Given the description of an element on the screen output the (x, y) to click on. 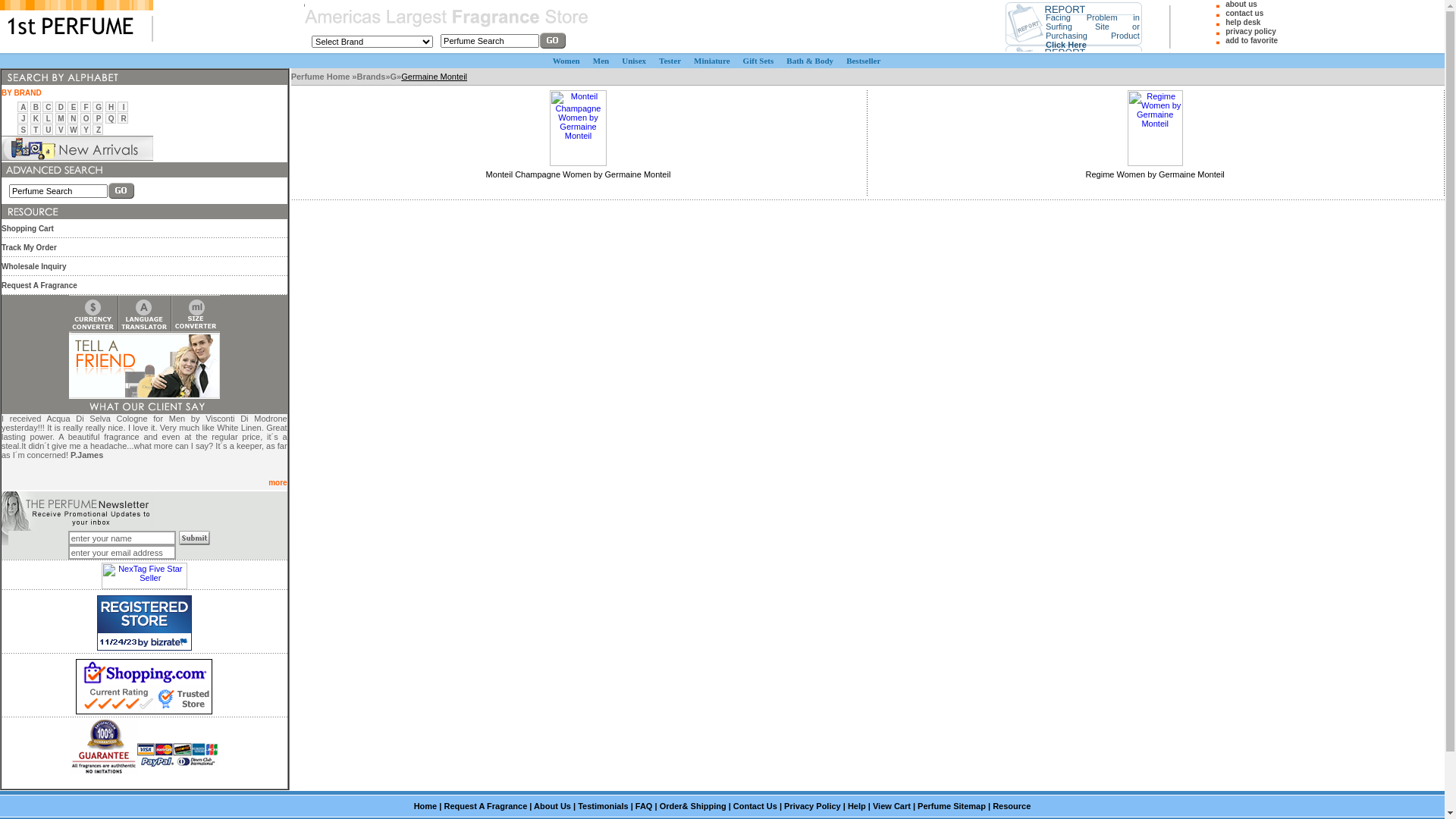
W Element type: text (72, 129)
contact us Element type: text (1244, 13)
View Cart Element type: text (891, 805)
U Element type: text (47, 129)
Sign Up for Perfume News Letter Element type: hover (76, 510)
K Element type: text (35, 117)
Help Element type: text (856, 805)
cheap perfume Element type: hover (304, 34)
Resource Element type: text (1011, 805)
Y Element type: text (85, 129)
Track My Order Element type: text (28, 246)
Tester Element type: text (669, 60)
S Element type: text (22, 129)
Q Element type: text (111, 117)
perfume fragrance Element type: hover (1, 490)
Wholesale Inquiry Element type: text (33, 266)
E Element type: text (73, 107)
discount perfume Element type: hover (304, 3)
Perfume Sitemap Element type: text (951, 805)
perfume bottle Element type: hover (290, 68)
1stPerfume Element type: hover (76, 20)
Monteil Champagne Women by Germaine Monteil Element type: text (578, 173)
Request A Fragrance Element type: text (485, 805)
P Element type: text (98, 117)
Request A Fragrance Element type: text (39, 284)
Miniature Element type: text (711, 60)
FAQ Element type: text (643, 805)
Privacy Policy Element type: text (812, 805)
New Arrival Perfumes Element type: hover (77, 147)
R Element type: text (123, 117)
Gift Sets Element type: text (758, 60)
Search here for Fragrance Element type: hover (53, 170)
O Element type: text (86, 117)
perfume scents Element type: hover (177, 530)
about us Element type: text (1241, 4)
Men Element type: text (600, 60)
G Element type: text (98, 107)
Contact Us Element type: text (755, 805)
Shopping Cart Element type: text (27, 228)
Bath & Body Element type: text (809, 60)
add to favorite Element type: text (1251, 40)
Click Here Element type: text (1065, 43)
Home Element type: text (425, 805)
Testimonials Element type: text (602, 805)
C Element type: text (47, 107)
Z Element type: text (98, 129)
Brands Element type: text (370, 76)
Search Brand Perfume Alphabetically Element type: hover (59, 76)
J Element type: text (23, 117)
V Element type: text (60, 129)
privacy policy Element type: text (1250, 31)
D Element type: text (60, 107)
Women Element type: text (566, 60)
N Element type: text (72, 117)
Perfume Home Element type: text (321, 76)
B Element type: text (35, 107)
About Us Element type: text (552, 805)
G Element type: text (393, 76)
1st Perfume Testimonals Element type: hover (144, 406)
Bestseller Element type: text (862, 60)
Americas Largest Perfume Store Element type: hover (446, 17)
H Element type: text (110, 107)
1st Perfume Resource Element type: hover (29, 211)
Tell A Friend about 1st Perfume Element type: hover (144, 365)
help desk Element type: text (1242, 22)
L Element type: text (48, 117)
M Element type: text (60, 117)
spa scents Element type: hover (291, 84)
Order& Shipping Element type: text (692, 805)
more Element type: text (277, 482)
Unisex Element type: text (633, 60)
F Element type: text (86, 107)
I Element type: text (123, 107)
Regime Women by Germaine Monteil Element type: text (1154, 173)
A Element type: text (22, 107)
T Element type: text (35, 129)
